Given the description of an element on the screen output the (x, y) to click on. 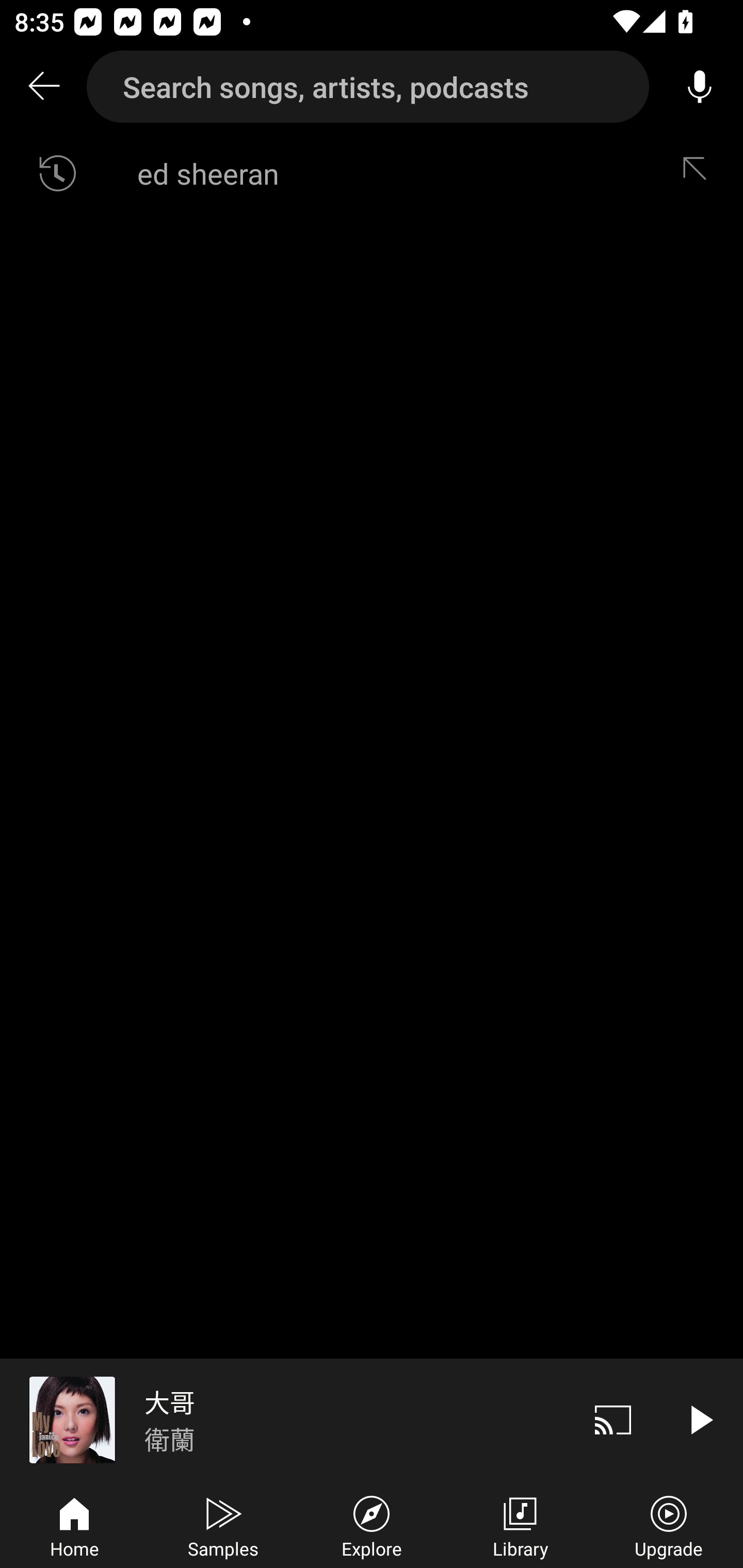
Search back (43, 86)
Search songs, artists, podcasts (367, 86)
Voice search (699, 86)
ed sheeran Edit suggestion ed sheeran (371, 173)
Edit suggestion ed sheeran (699, 173)
大哥 衛蘭 (284, 1419)
Cast. Disconnected (612, 1419)
Play video (699, 1419)
Home (74, 1524)
Samples (222, 1524)
Explore (371, 1524)
Library (519, 1524)
Upgrade (668, 1524)
